Given the description of an element on the screen output the (x, y) to click on. 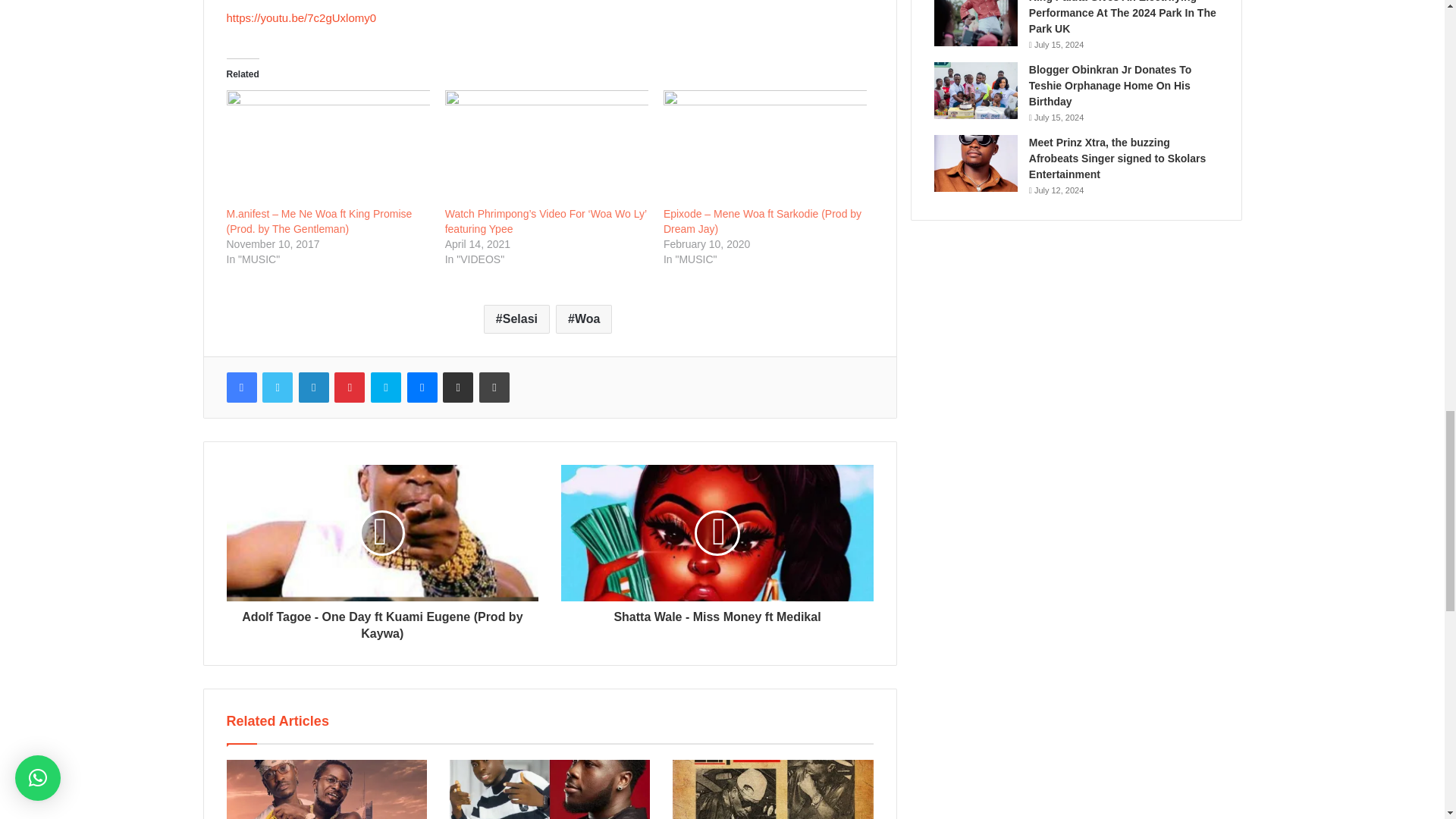
Twitter (277, 387)
Woa (583, 318)
LinkedIn (313, 387)
Selasi (516, 318)
Pinterest (349, 387)
Facebook (240, 387)
